Given the description of an element on the screen output the (x, y) to click on. 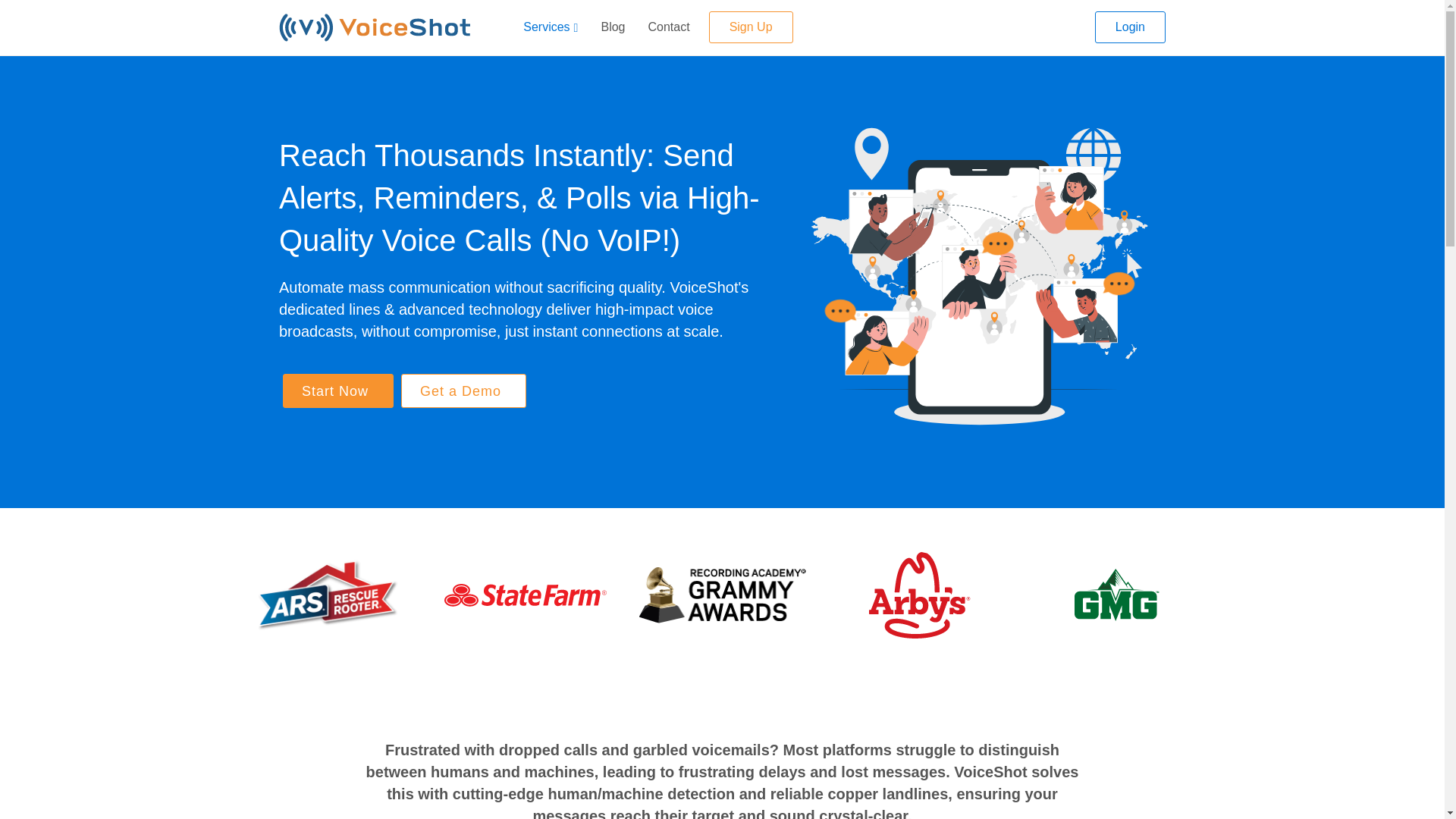
ars-rescue-rooter-logo (327, 594)
Blog (612, 26)
statefarm-logo (525, 594)
Start Now (337, 390)
Contact (668, 26)
arbys-logo (920, 595)
Get a Demo (463, 390)
Login (1130, 27)
gmg-logo (1116, 594)
grammy-awards-logo (722, 594)
